Given the description of an element on the screen output the (x, y) to click on. 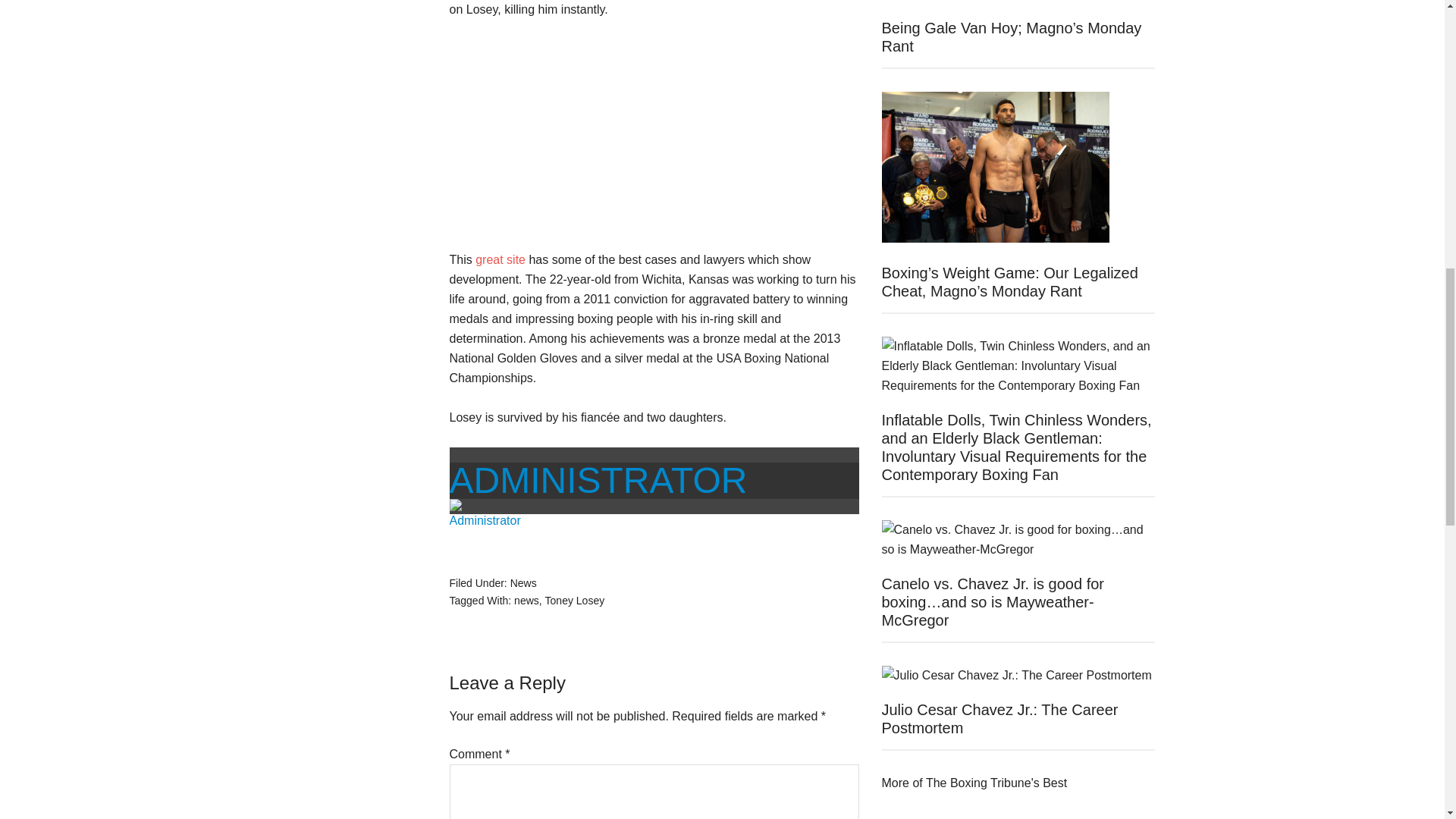
More of The Boxing Tribune's Best (973, 782)
Administrator (597, 480)
ADMINISTRATOR (597, 480)
News (524, 582)
great site (500, 259)
news (525, 600)
bestof (973, 782)
Julio Cesar Chavez Jr.: The Career Postmortem (999, 718)
Toney Losey (574, 600)
